Given the description of an element on the screen output the (x, y) to click on. 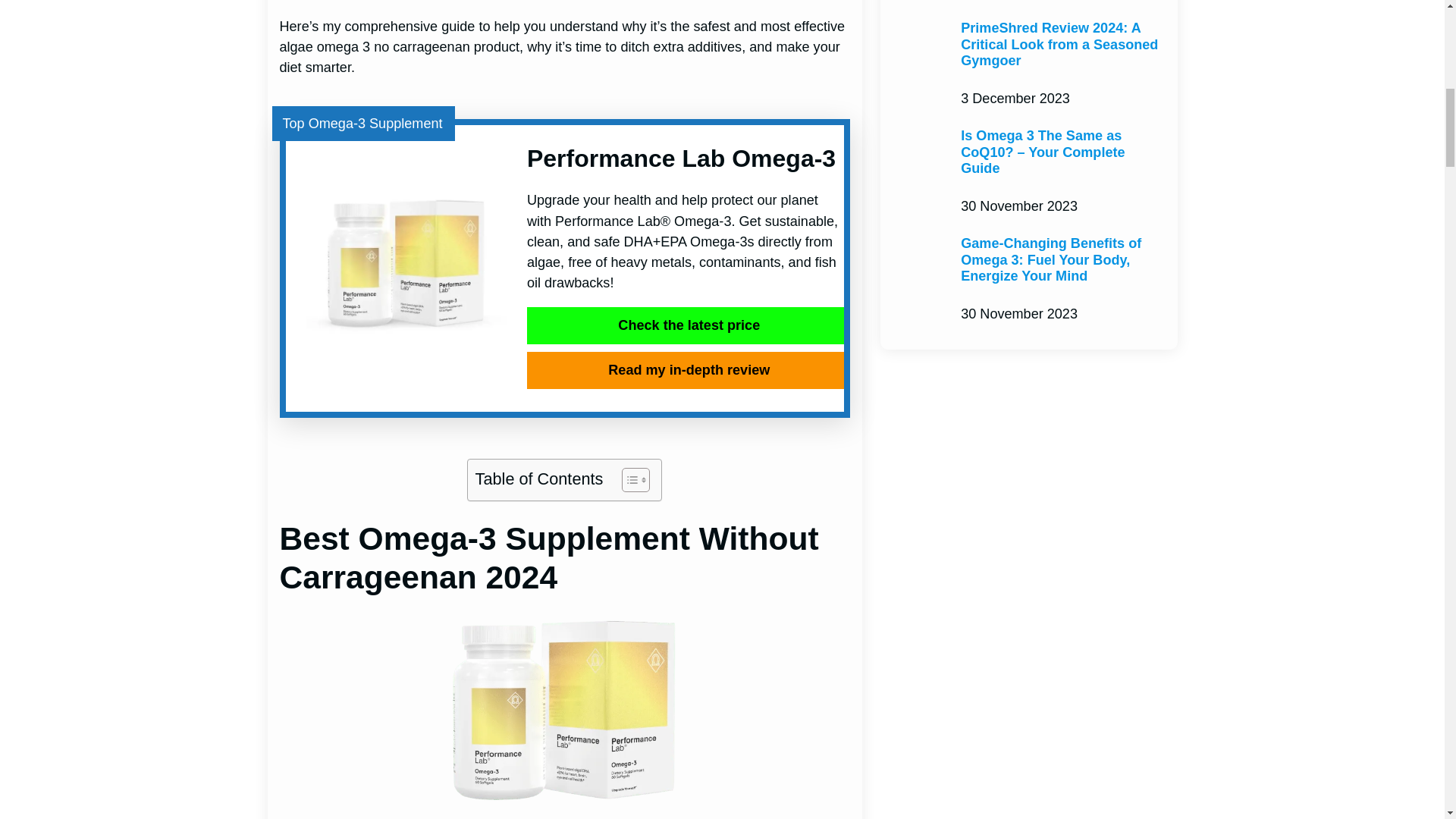
Read my in-depth review (685, 370)
Check the latest price (685, 325)
